Given the description of an element on the screen output the (x, y) to click on. 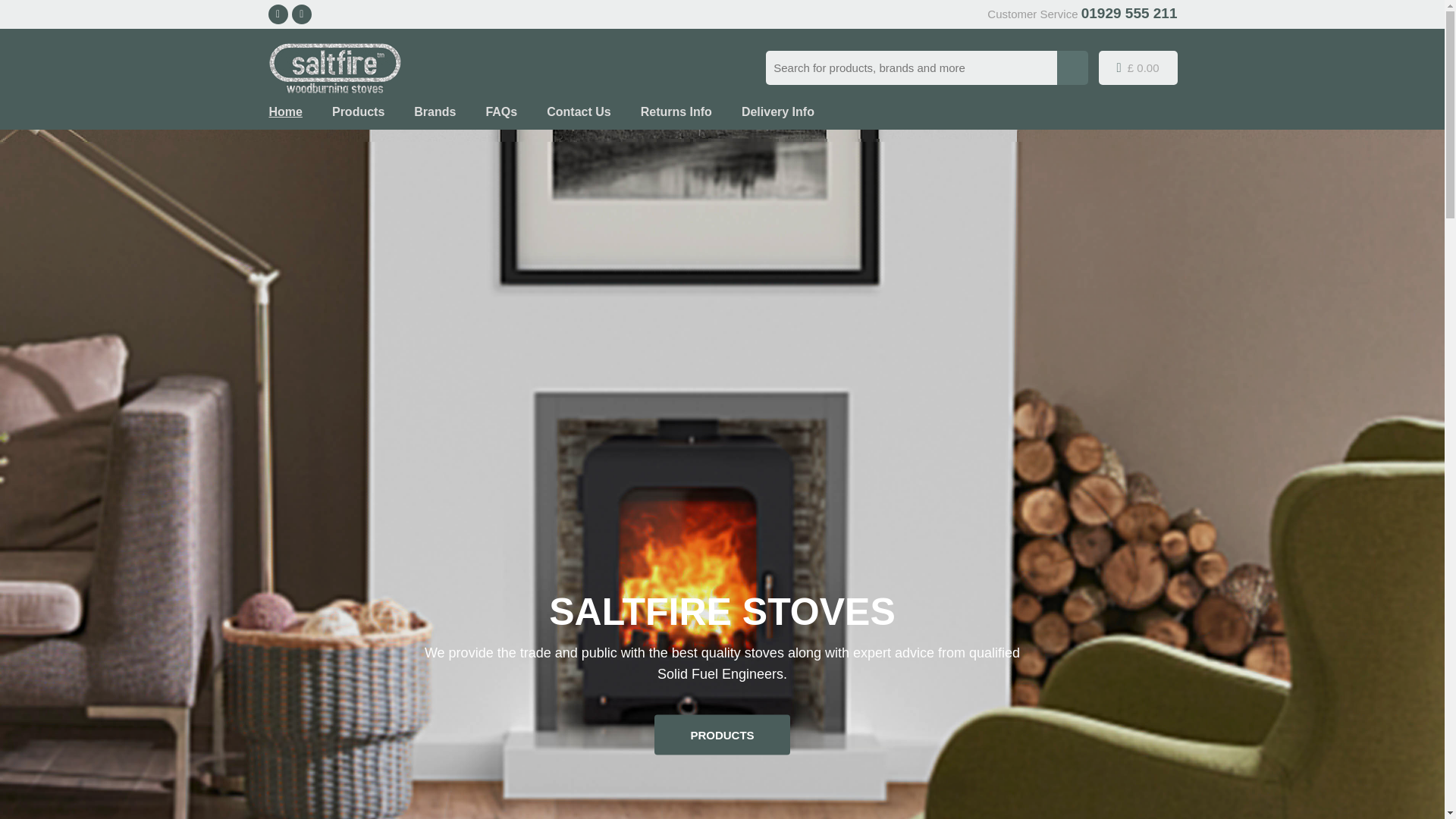
FAQs (500, 112)
Find (1072, 67)
Contact Saltfire Stoves (577, 112)
Contact Us (577, 112)
Saltfire Stoves home page (284, 112)
Find (1072, 67)
PRODUCTS (721, 734)
Delivery Info (777, 112)
Products (357, 112)
Visit Woodburning Stoves Direct on Facebook (277, 14)
